Given the description of an element on the screen output the (x, y) to click on. 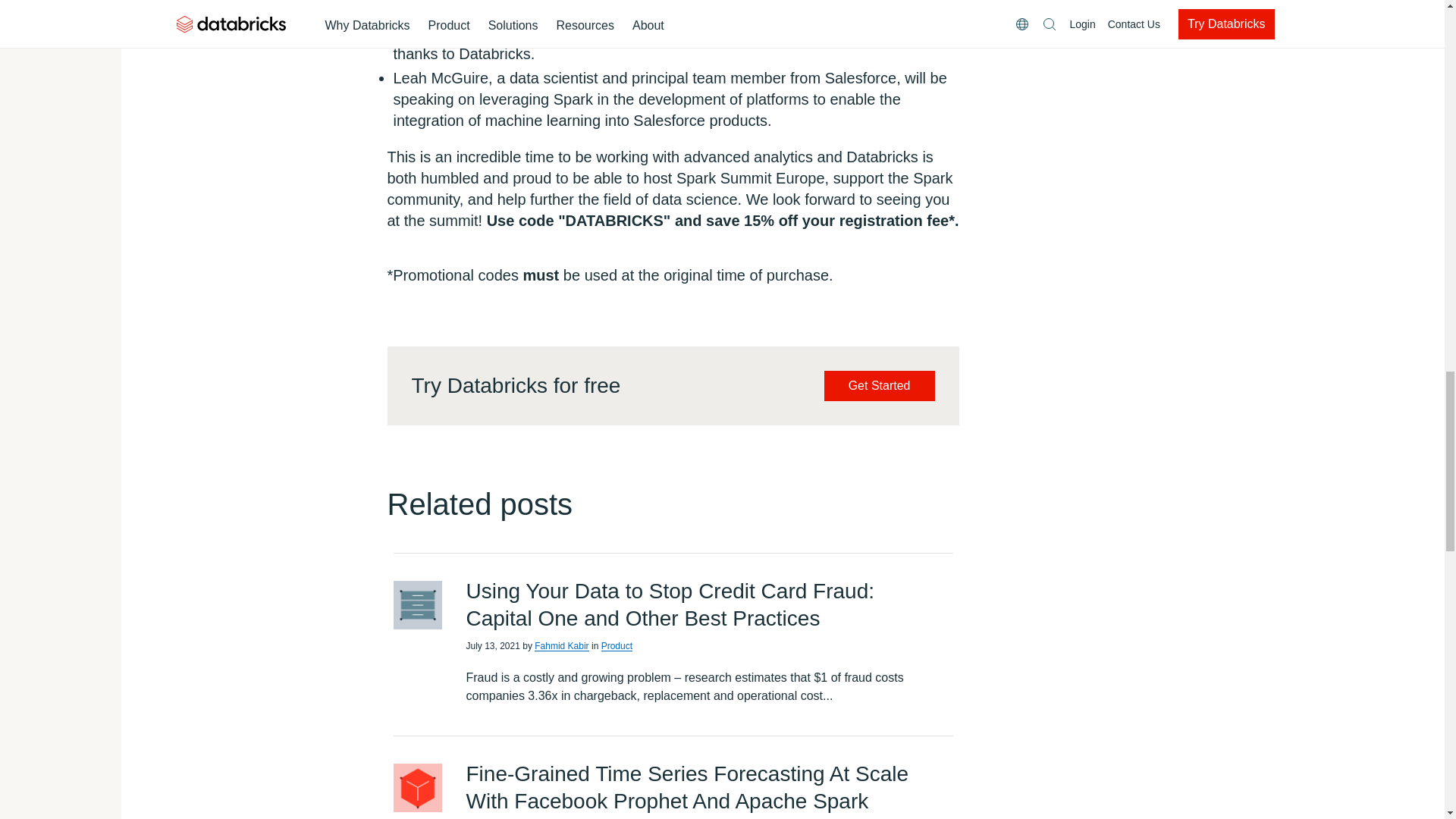
Get Started (879, 386)
